Given the description of an element on the screen output the (x, y) to click on. 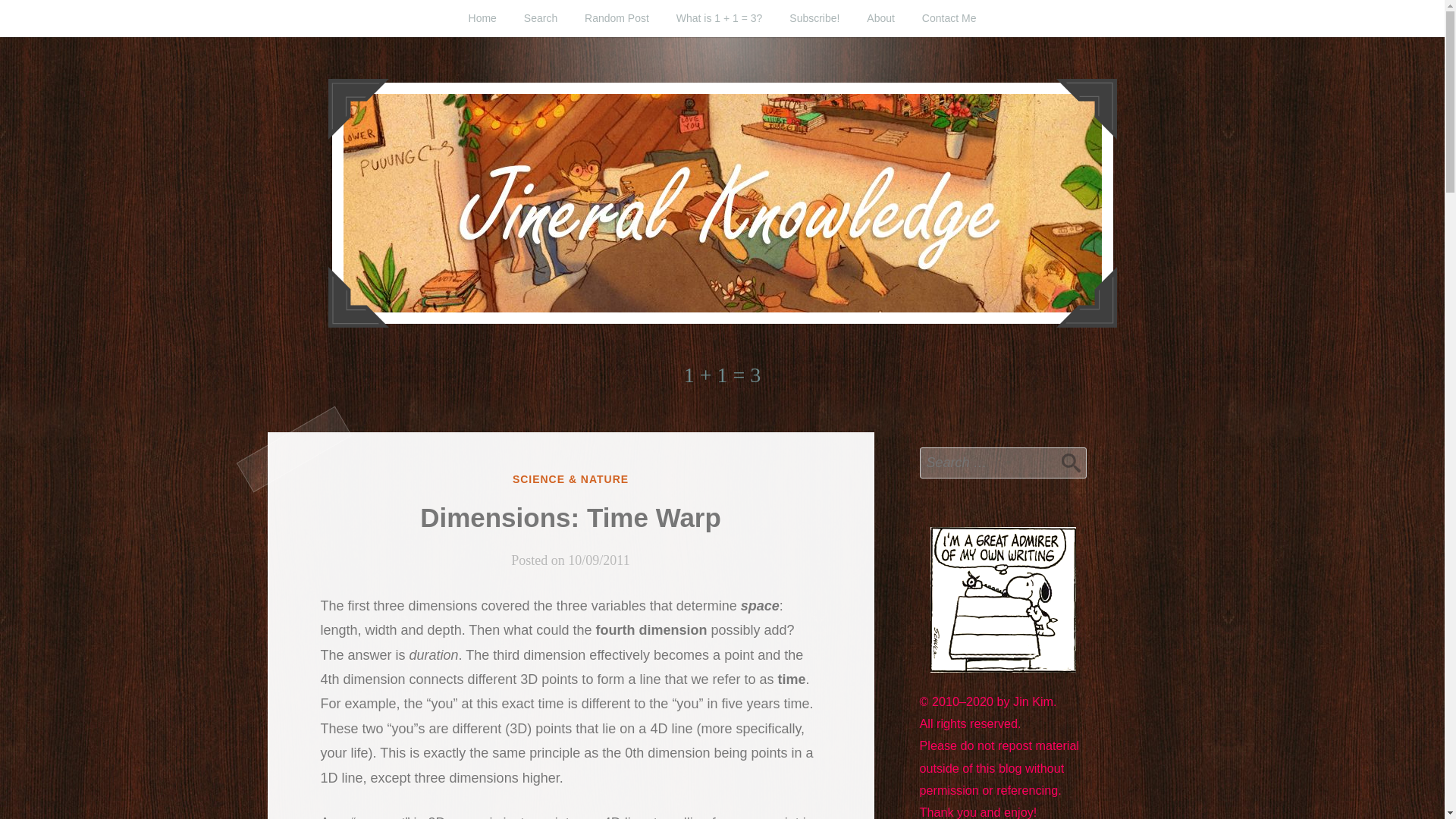
About (880, 18)
Subscribe! (814, 18)
Search (1070, 462)
Home (482, 18)
Contact Me (949, 18)
Search (540, 18)
Search (1070, 462)
Random Post (616, 18)
